Given the description of an element on the screen output the (x, y) to click on. 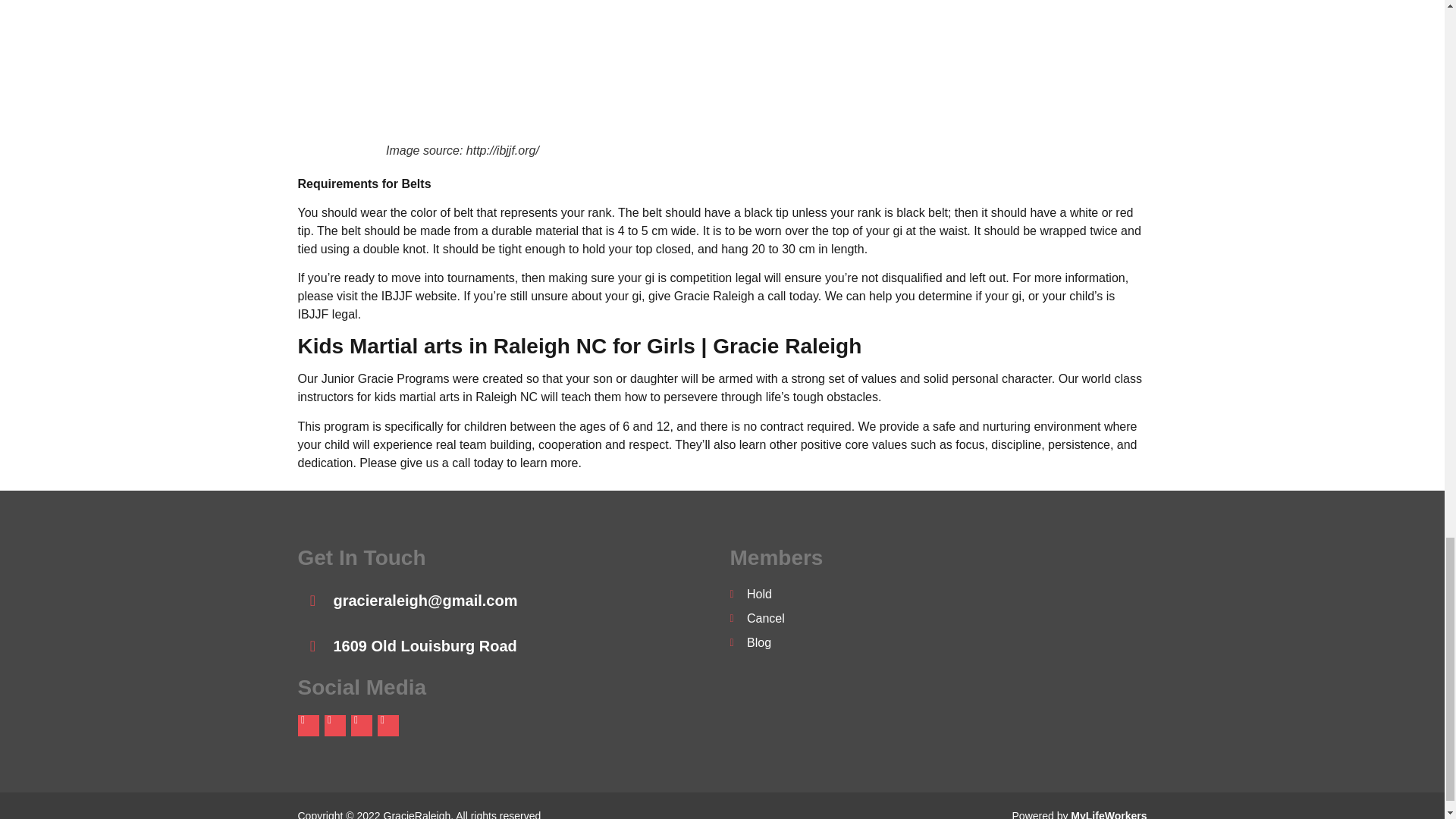
Junior Gracie Programs (385, 378)
call today (477, 462)
please visit the IBJJF website (377, 295)
